Given the description of an element on the screen output the (x, y) to click on. 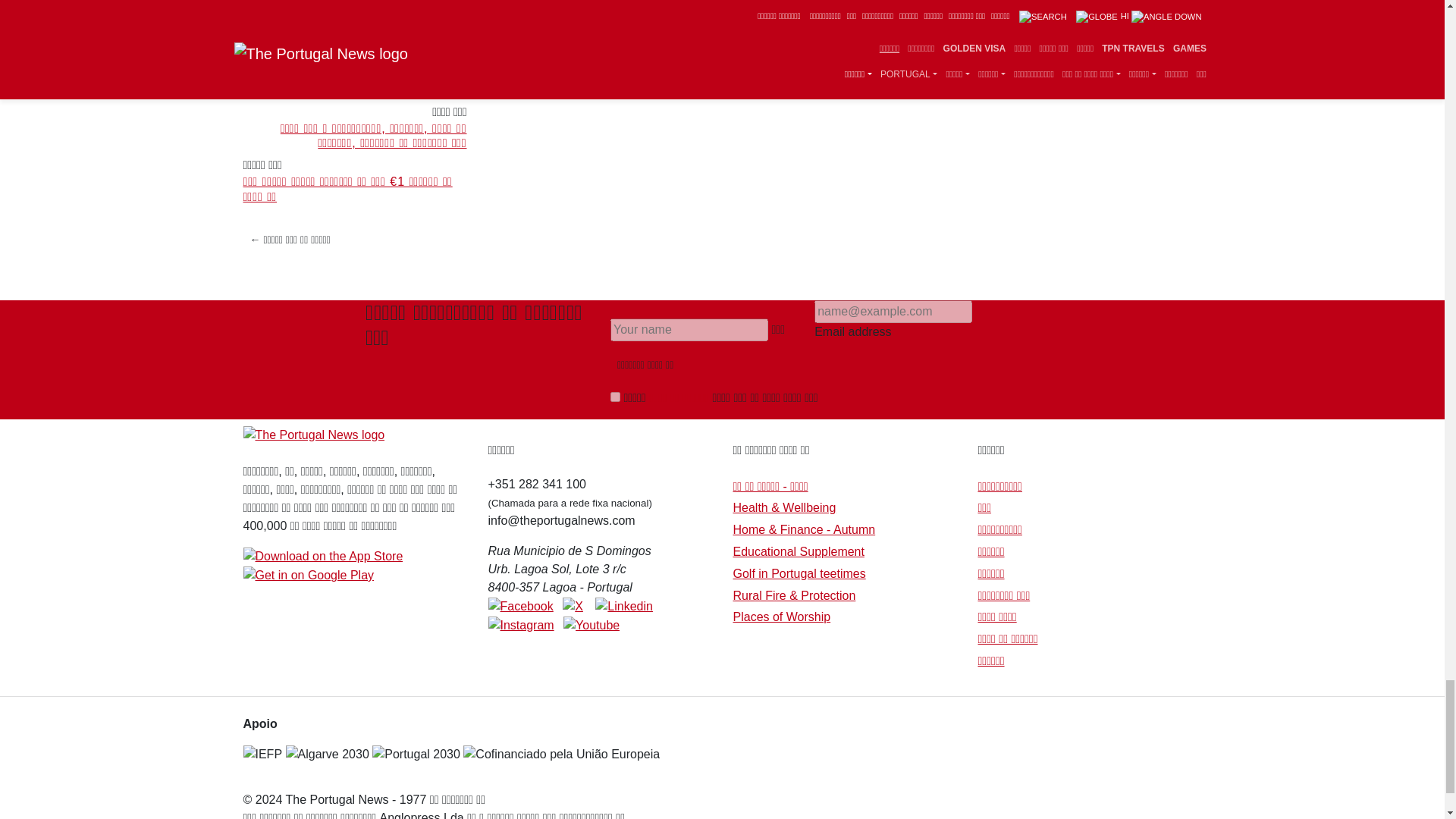
on (615, 397)
